Given the description of an element on the screen output the (x, y) to click on. 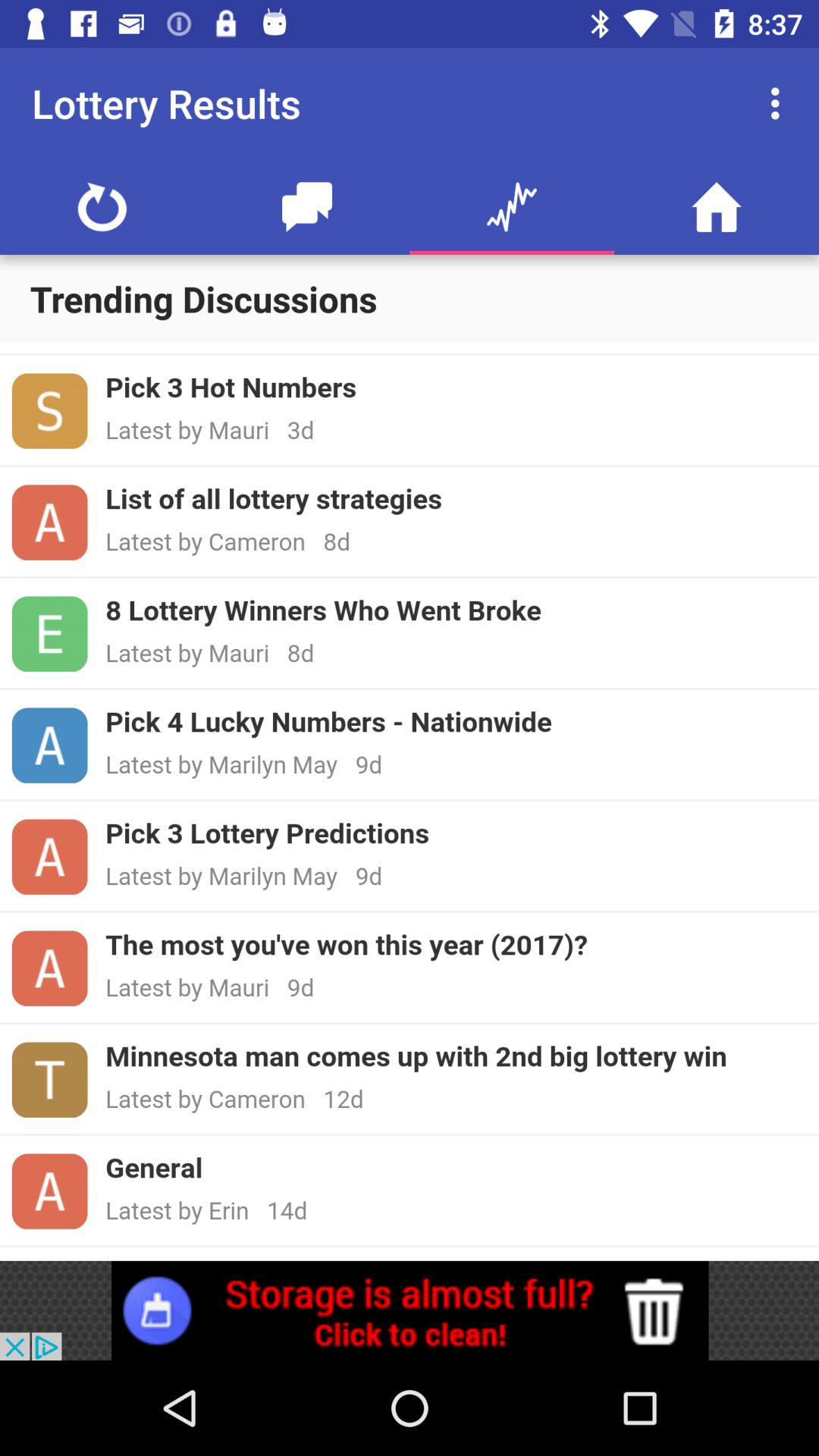
opens a thread (409, 801)
